Given the description of an element on the screen output the (x, y) to click on. 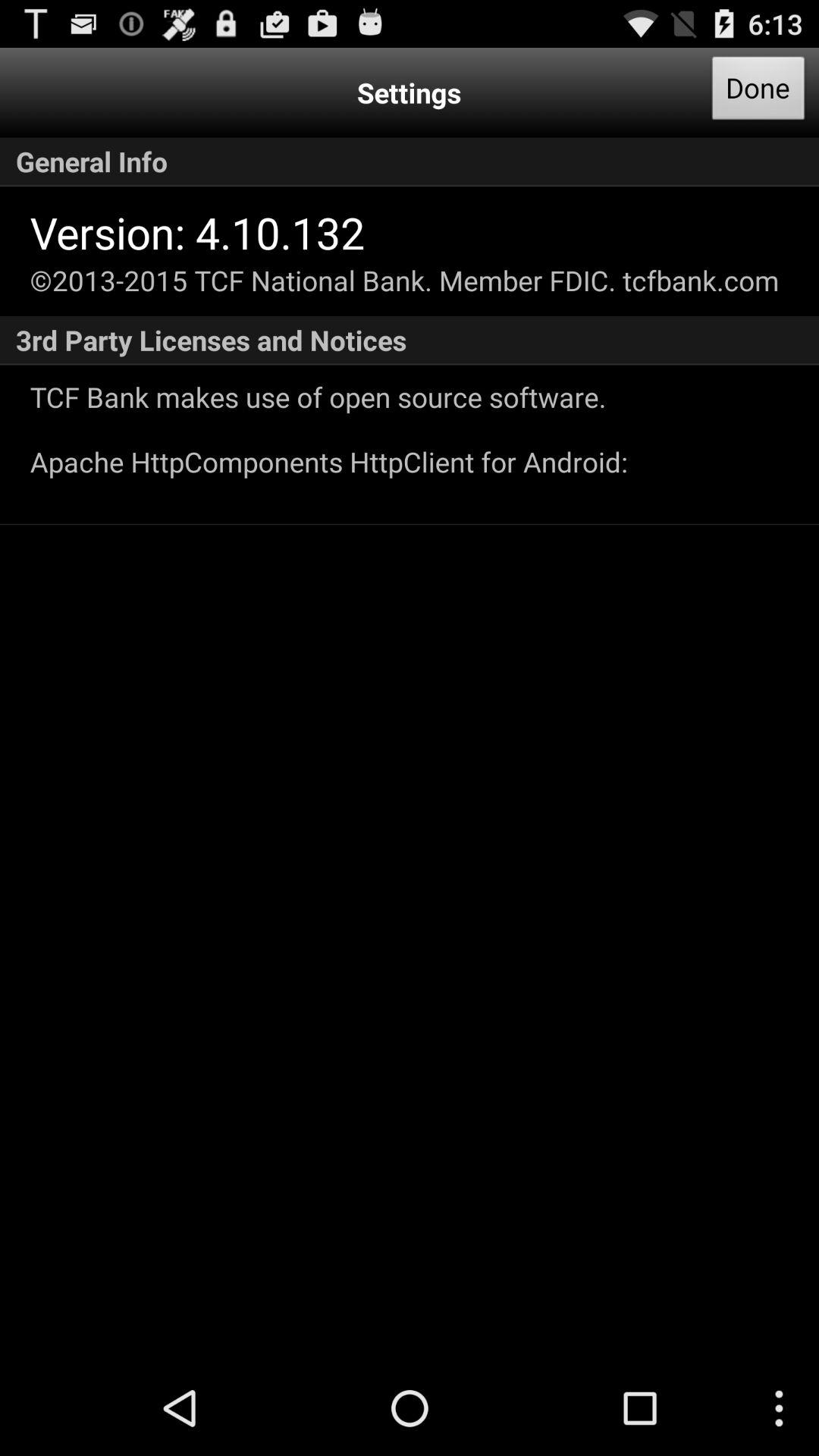
flip until the done (758, 92)
